Given the description of an element on the screen output the (x, y) to click on. 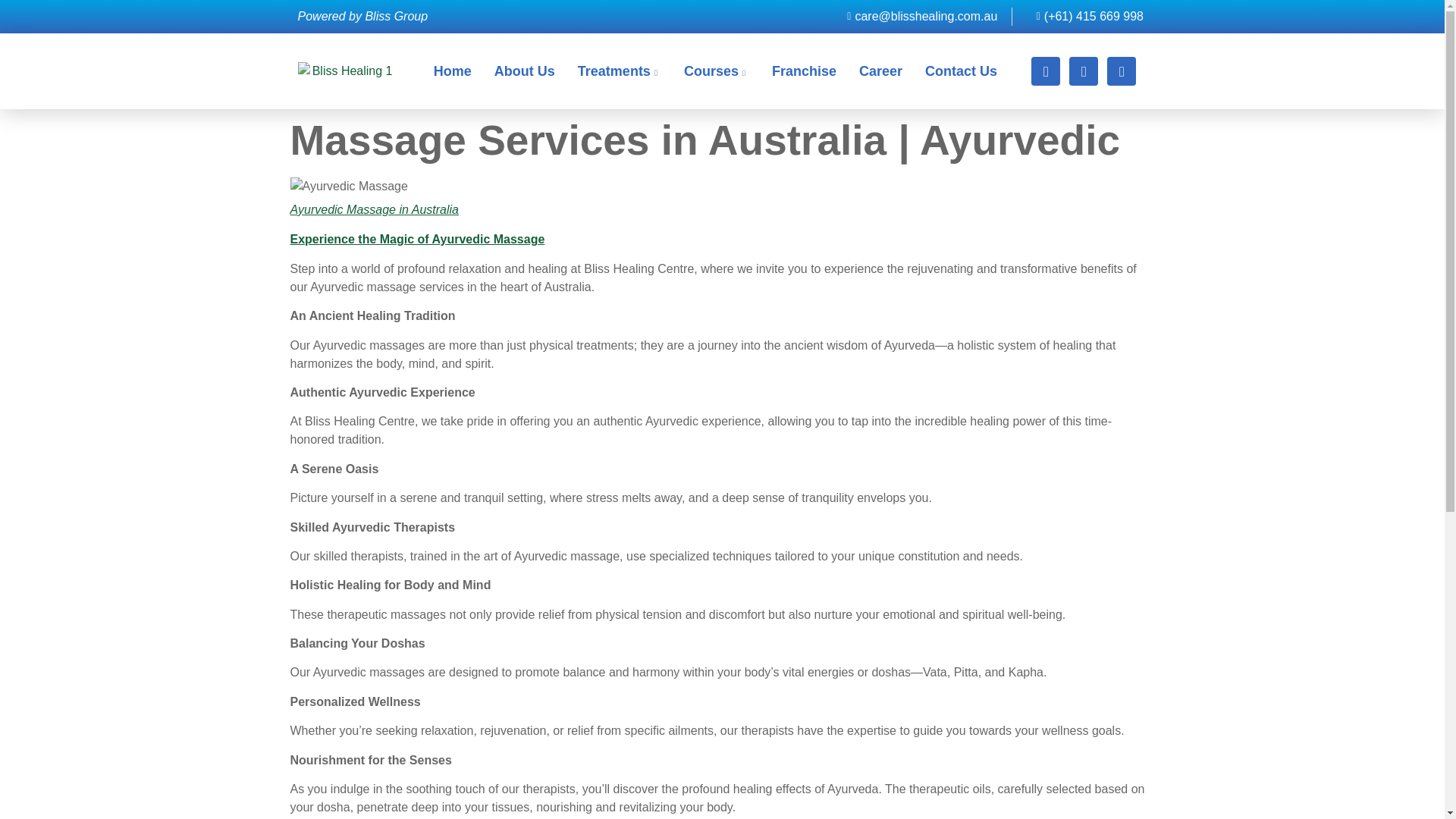
About Us (524, 70)
Home (452, 70)
C9e6212b47 (348, 186)
Treatments (619, 70)
